Given the description of an element on the screen output the (x, y) to click on. 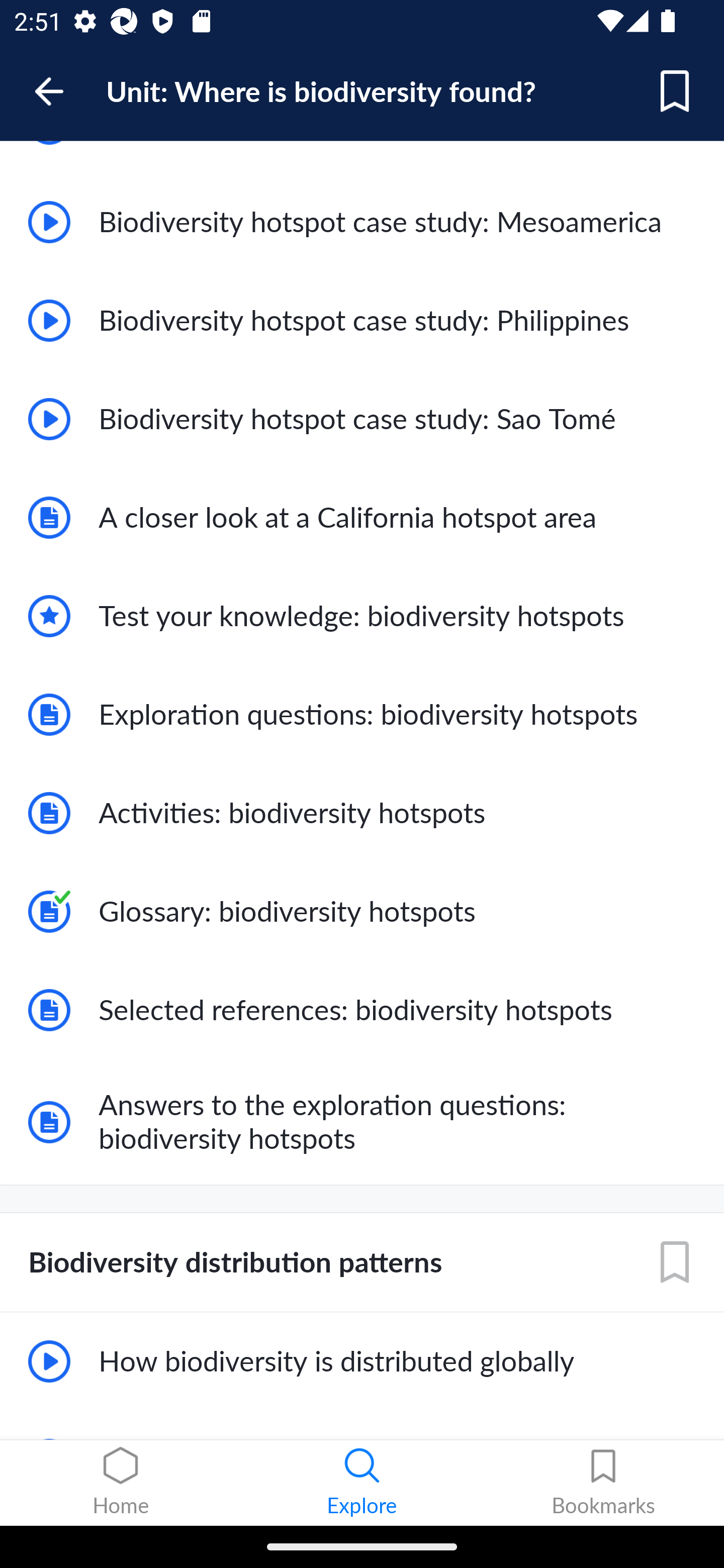
Back (58, 91)
Add Bookmark (674, 91)
Biodiversity hotspot case study: Mesoamerica (362, 221)
Biodiversity hotspot case study: Philippines (362, 320)
Biodiversity hotspot case study: Sao Tomé (362, 419)
A closer look at a California hotspot area (362, 517)
Test your knowledge: biodiversity hotspots (362, 615)
Exploration questions: biodiversity hotspots (362, 713)
Activities: biodiversity hotspots (362, 812)
Glossary: biodiversity hotspots (362, 911)
Selected references: biodiversity hotspots (362, 1010)
Add Bookmark (674, 1262)
How biodiversity is distributed globally (362, 1361)
Home (120, 1482)
Explore (361, 1482)
Bookmarks (603, 1482)
